Given the description of an element on the screen output the (x, y) to click on. 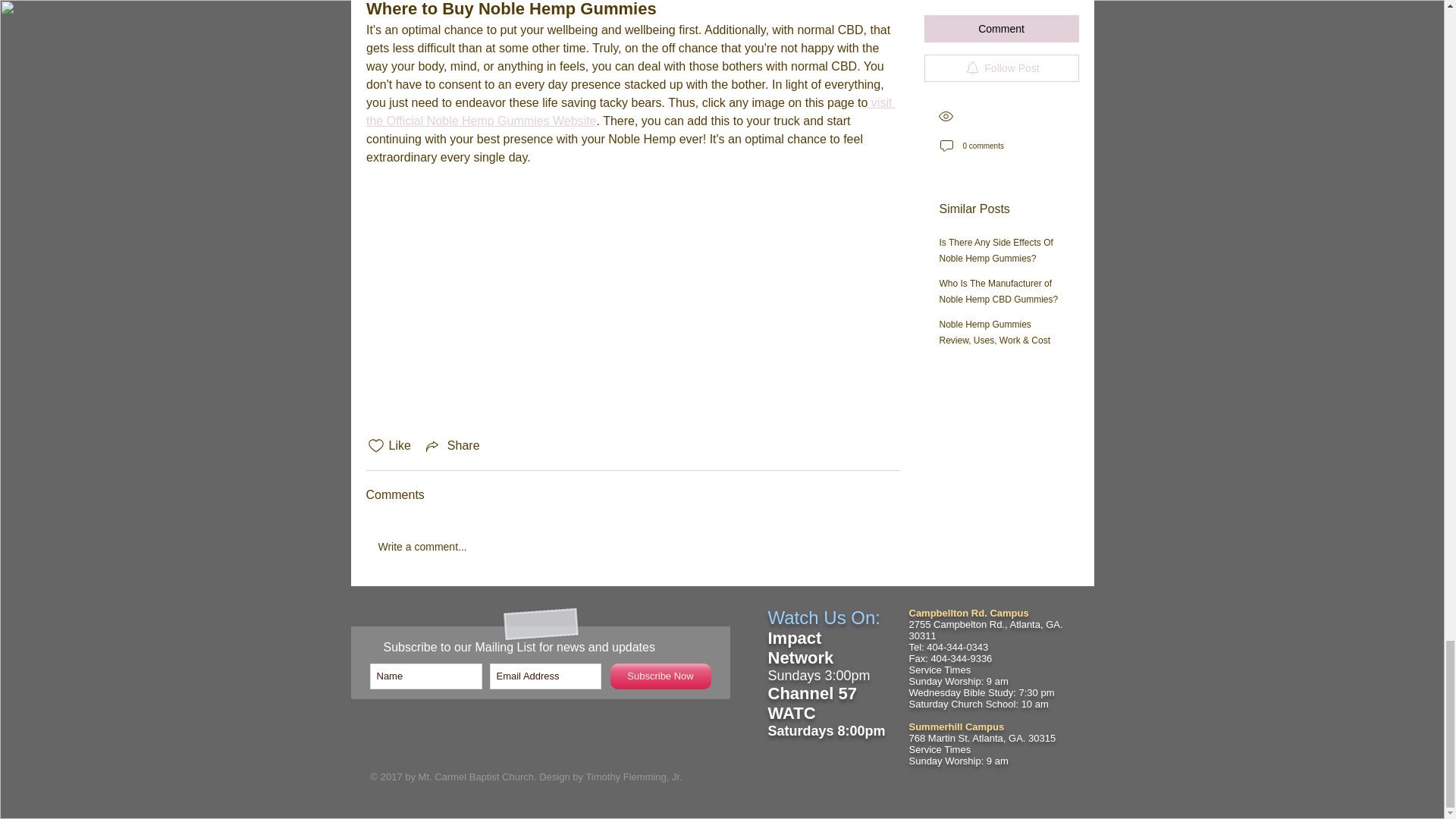
 visit the Official Noble Hemp Gummies Website (630, 111)
Share (451, 445)
Subscribe Now (660, 676)
Write a comment... (632, 546)
